Given the description of an element on the screen output the (x, y) to click on. 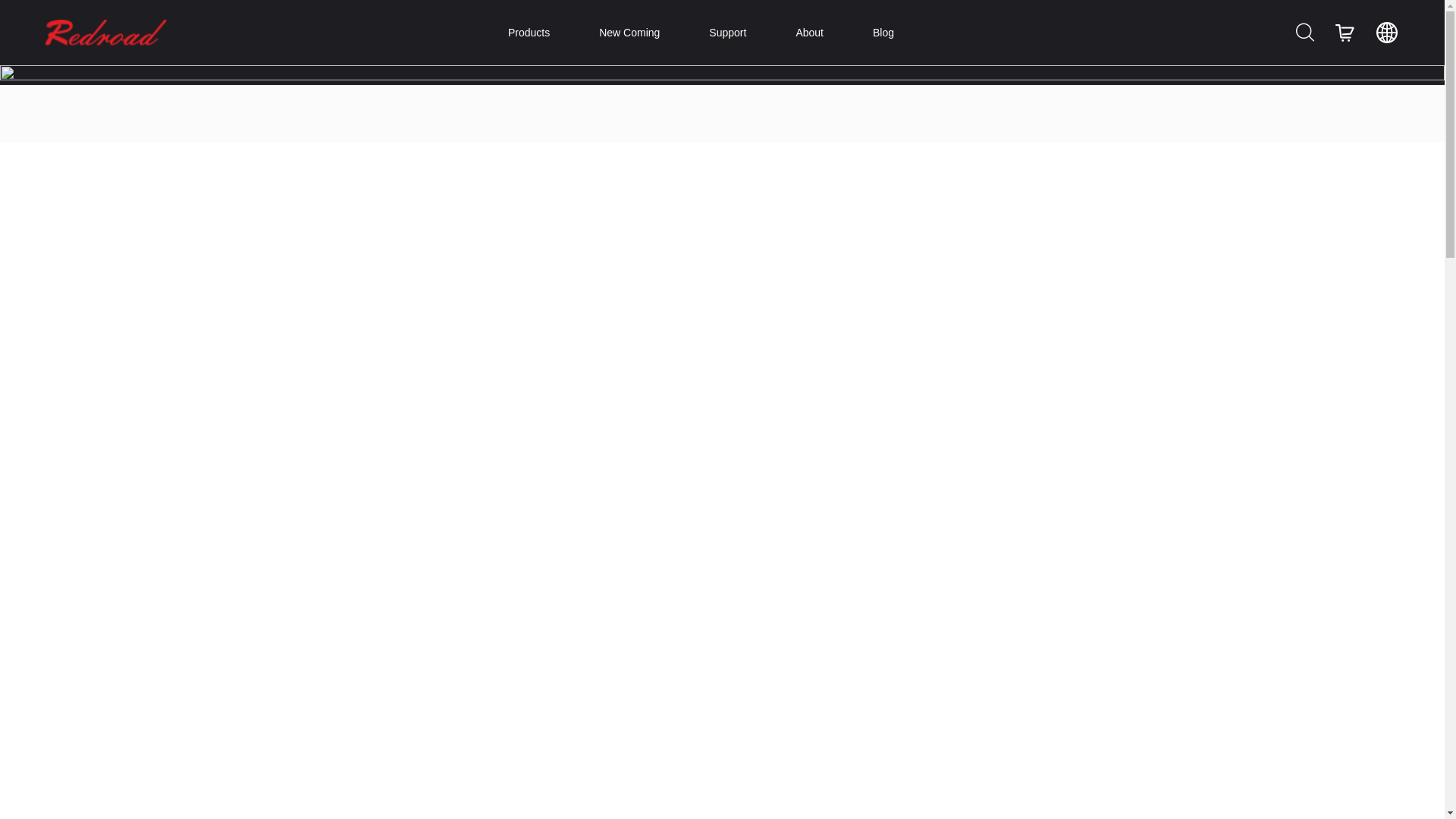
Products Element type: text (528, 32)
Blog Element type: text (883, 32)
Support Element type: text (727, 32)
About Element type: text (809, 32)
New Coming Element type: text (629, 32)
